Given the description of an element on the screen output the (x, y) to click on. 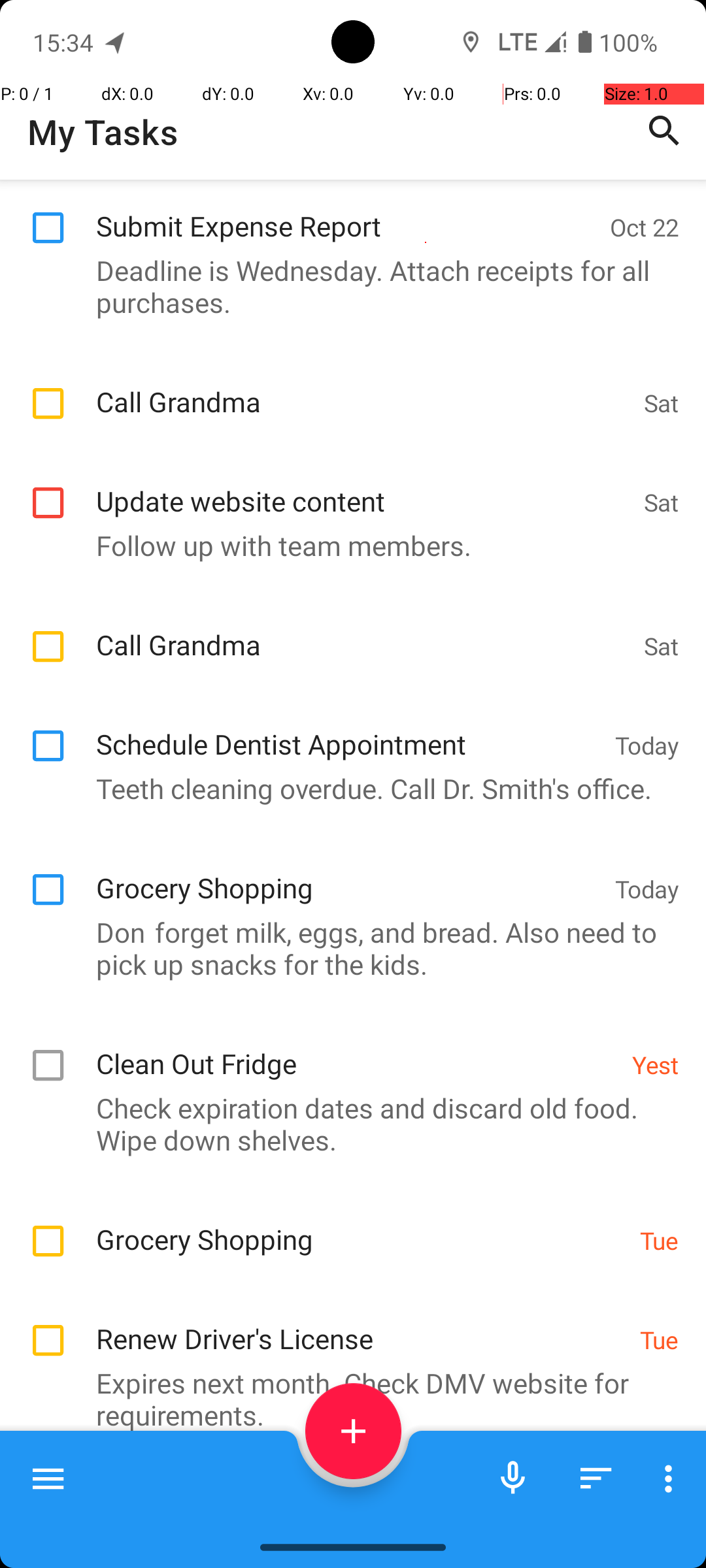
Deadline is Wednesday. Attach receipts for all purchases. Element type: android.widget.TextView (346, 285)
Update website content Element type: android.widget.TextView (363, 486)
Follow up with team members. Element type: android.widget.TextView (346, 544)
